Given the description of an element on the screen output the (x, y) to click on. 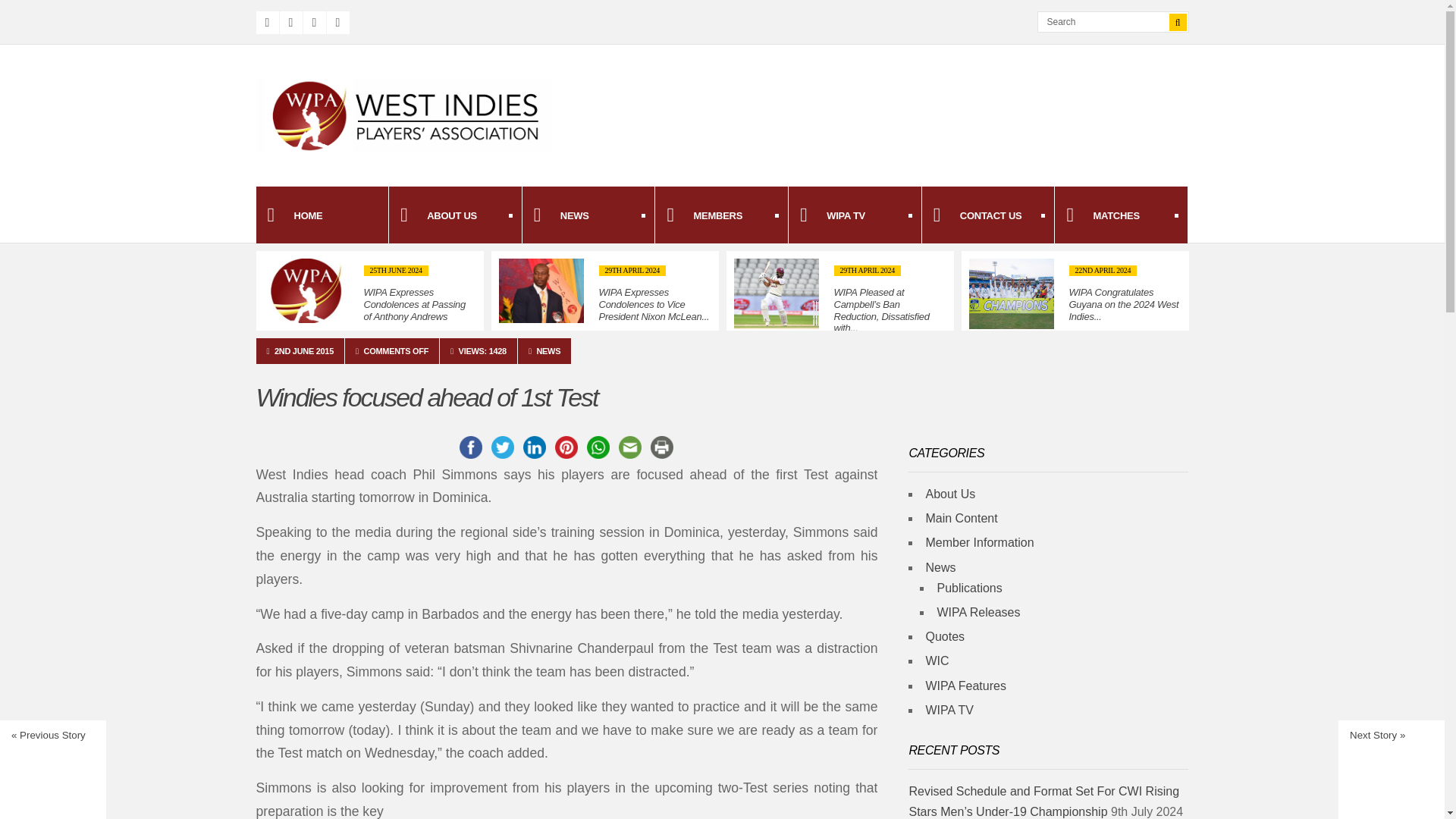
You Tube (337, 22)
Instagram (314, 22)
facebook (470, 447)
email (630, 447)
HOME (322, 214)
Search (1107, 21)
Facebook (267, 22)
print (662, 447)
linkedin (534, 447)
twitter (502, 447)
pinterest (566, 447)
Twitter (290, 22)
whatsapp (598, 447)
